Given the description of an element on the screen output the (x, y) to click on. 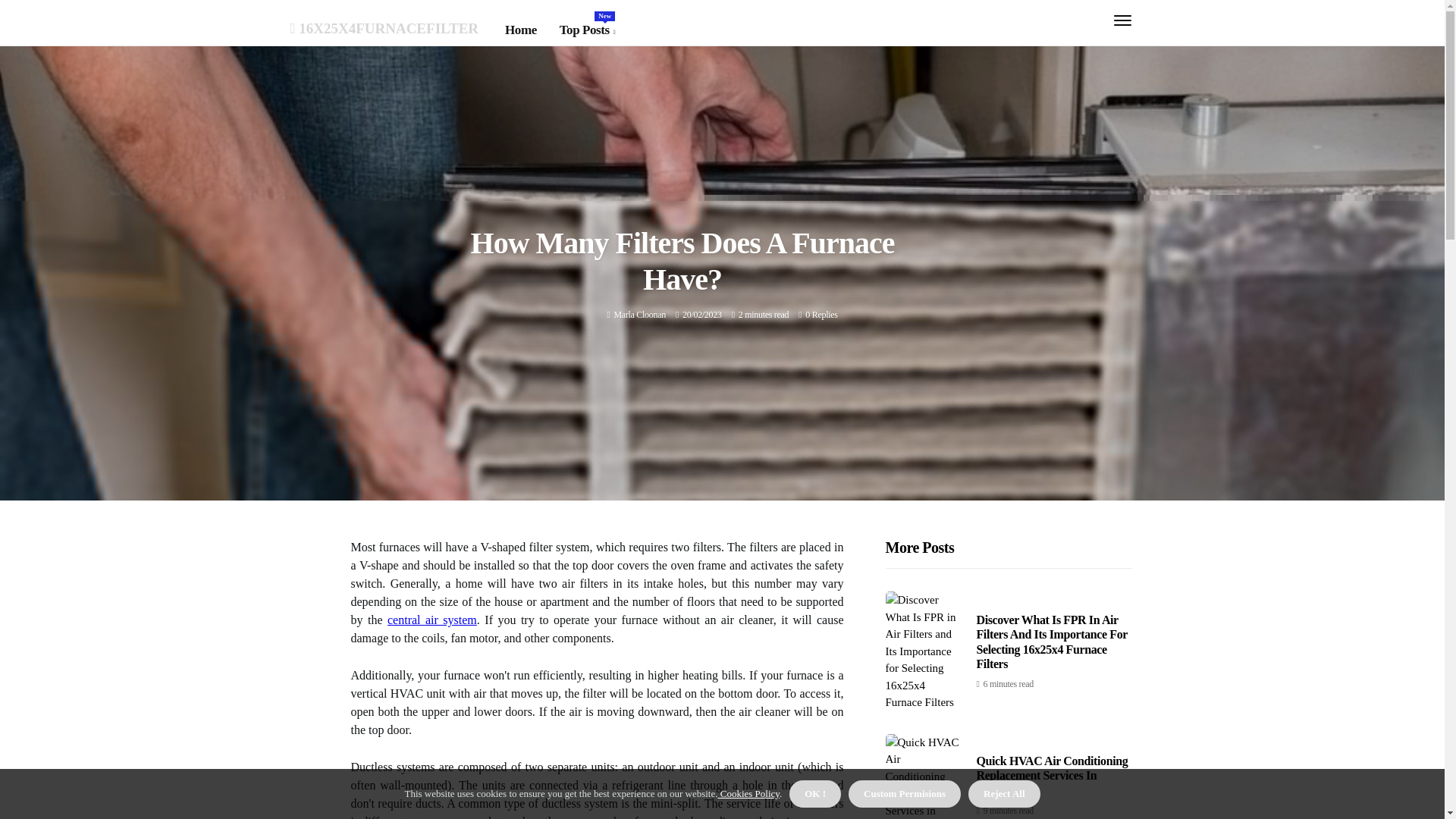
Posts by Marla Cloonan (638, 314)
Quick HVAC Air Conditioning Replacement Services In Miami FL (586, 30)
0 Replies (1052, 775)
central air system (821, 314)
Marla Cloonan (432, 619)
16x25x4furnacefilter (638, 314)
